Given the description of an element on the screen output the (x, y) to click on. 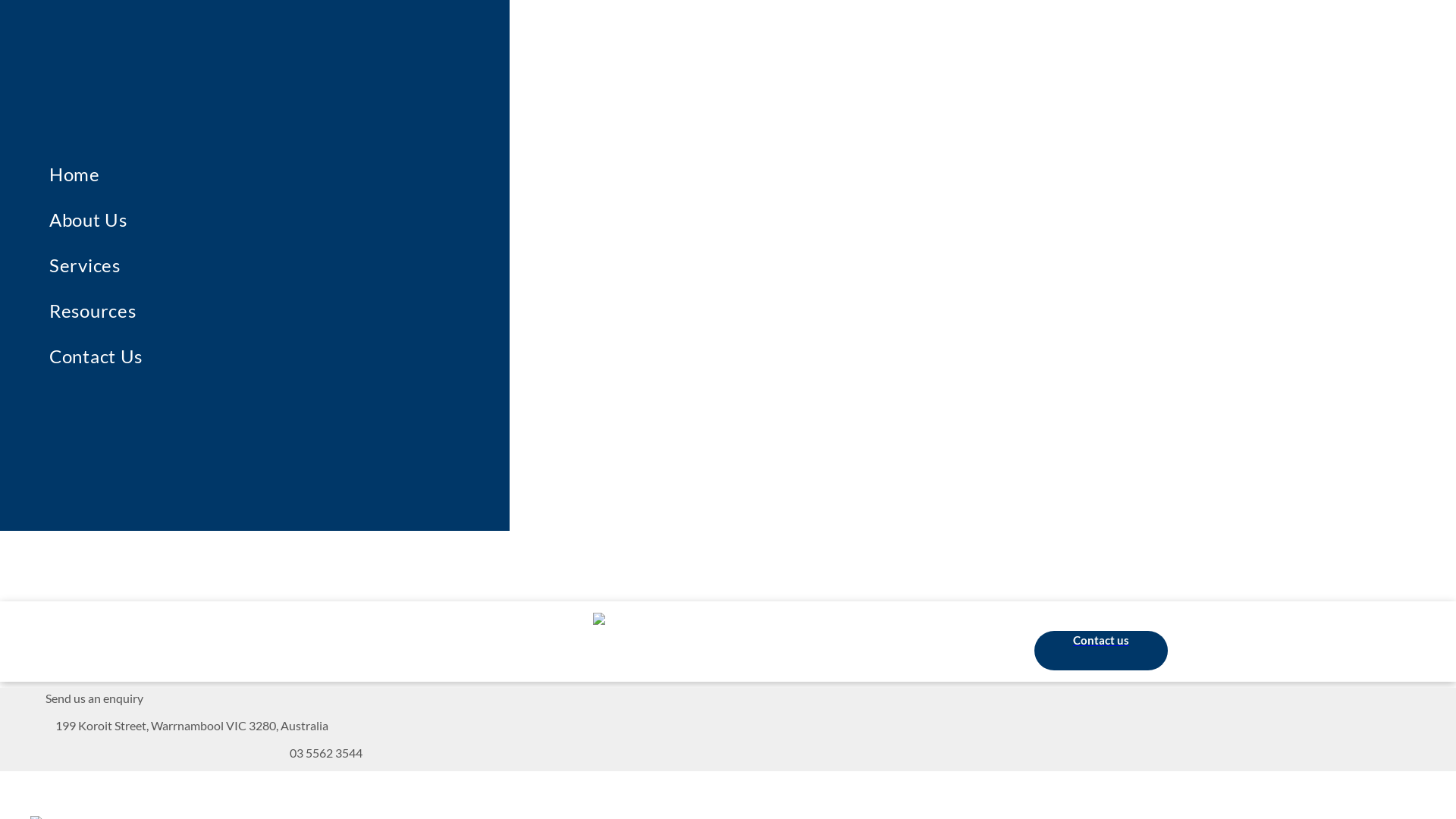
Send us an enquiry Element type: text (94, 697)
About Us Element type: text (292, 219)
Home Element type: text (292, 174)
03 5562 3544 Element type: text (325, 752)
199 Koroit Street, Warrnambool VIC 3280, Australia Element type: text (191, 725)
Contact Us Element type: text (292, 356)
Resources Element type: text (292, 310)
Contact us Element type: text (1100, 650)
Services Element type: text (292, 265)
